Given the description of an element on the screen output the (x, y) to click on. 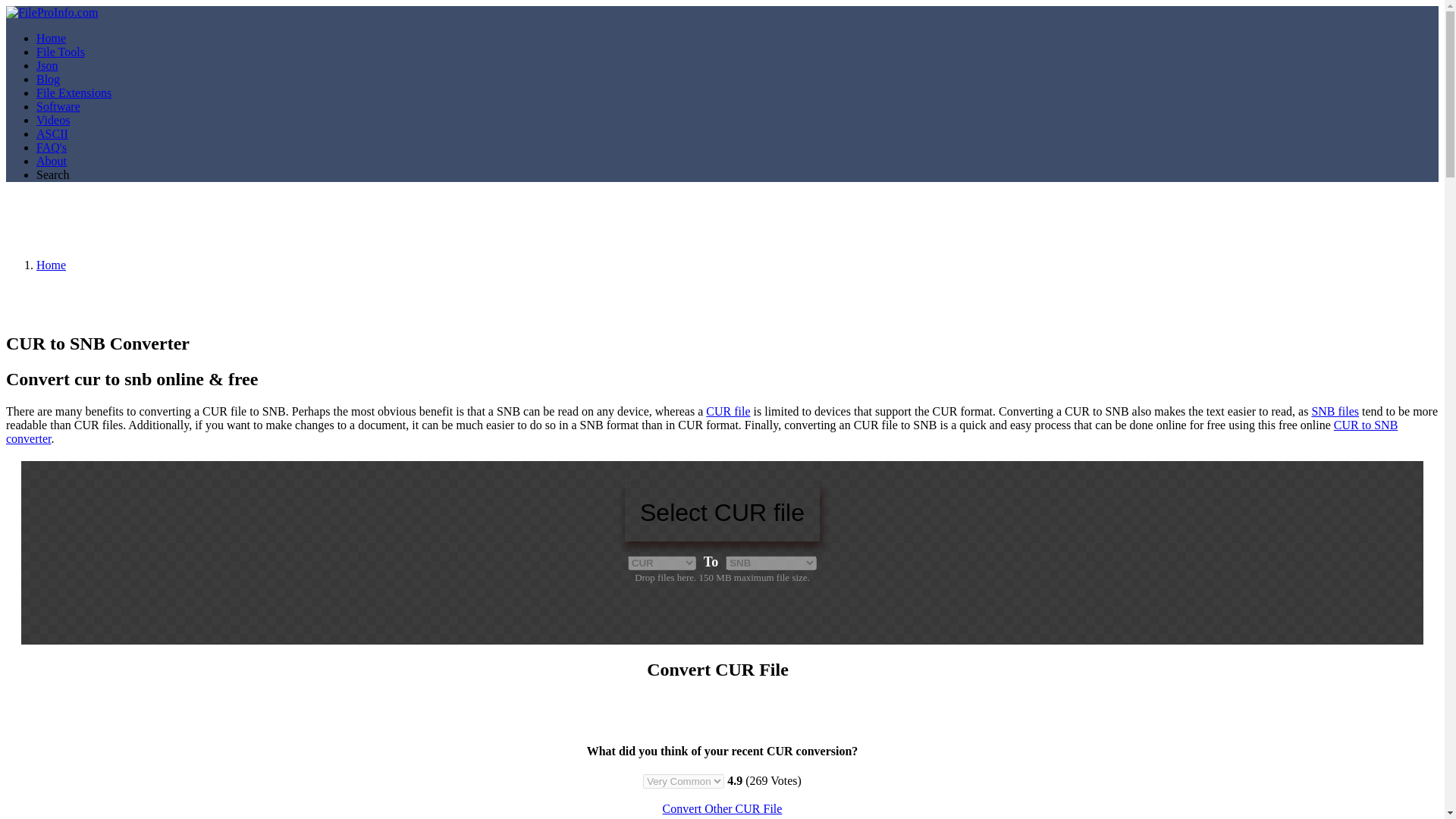
Convert Other CUR File (722, 808)
Video tutorials (52, 119)
File Tools (60, 51)
Software program list (58, 106)
Free online Json tools (47, 65)
Home (50, 38)
FileProInfo.com (51, 11)
Videos (52, 119)
File extensions list (74, 92)
File Extensions (74, 92)
